Given the description of an element on the screen output the (x, y) to click on. 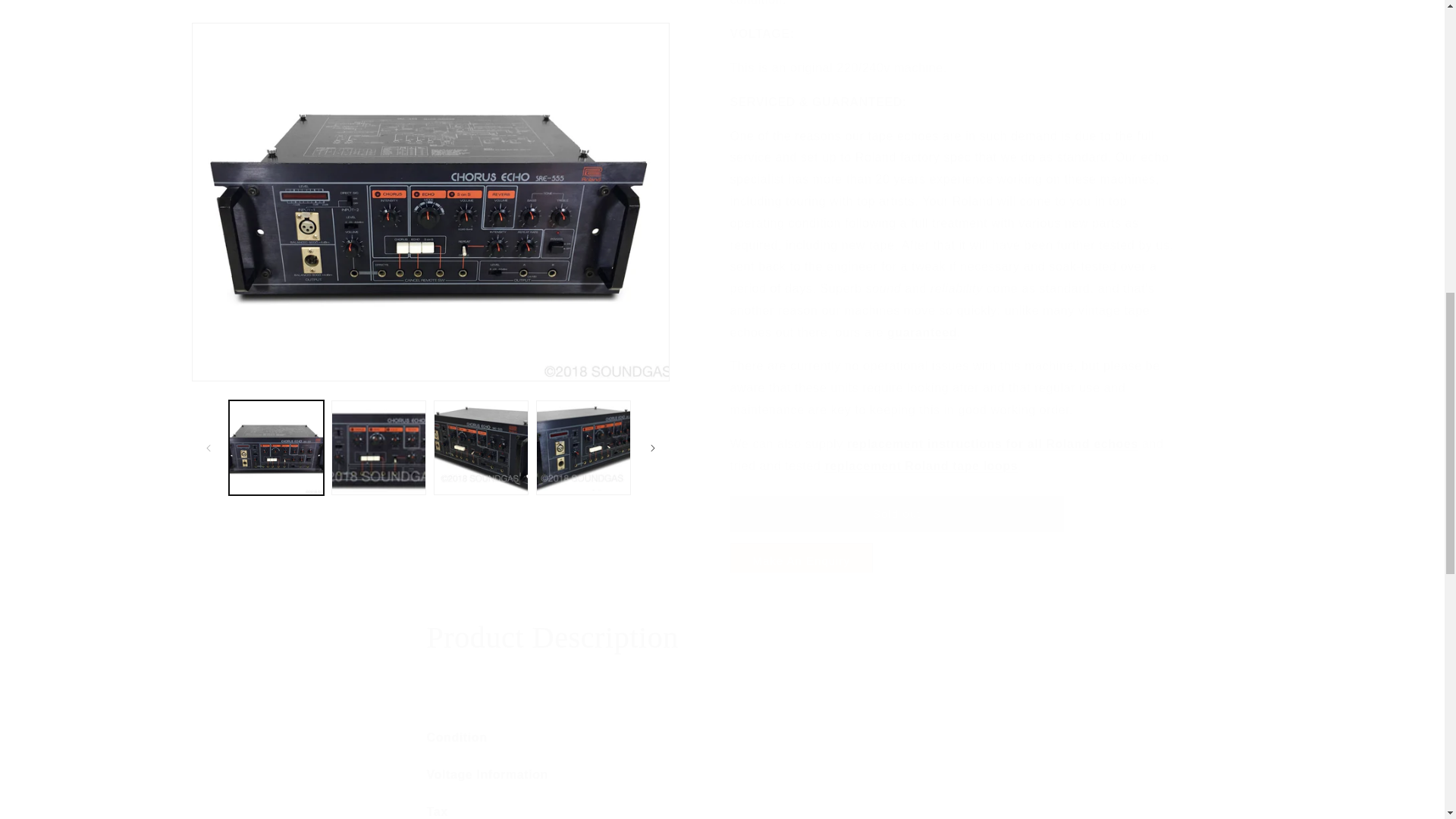
Condition (721, 738)
Product Description (721, 637)
Tax (721, 810)
Voltage Information (721, 775)
Roland tape echo instruction sheets (992, 431)
replacement Roland tape loops (920, 454)
